Given the description of an element on the screen output the (x, y) to click on. 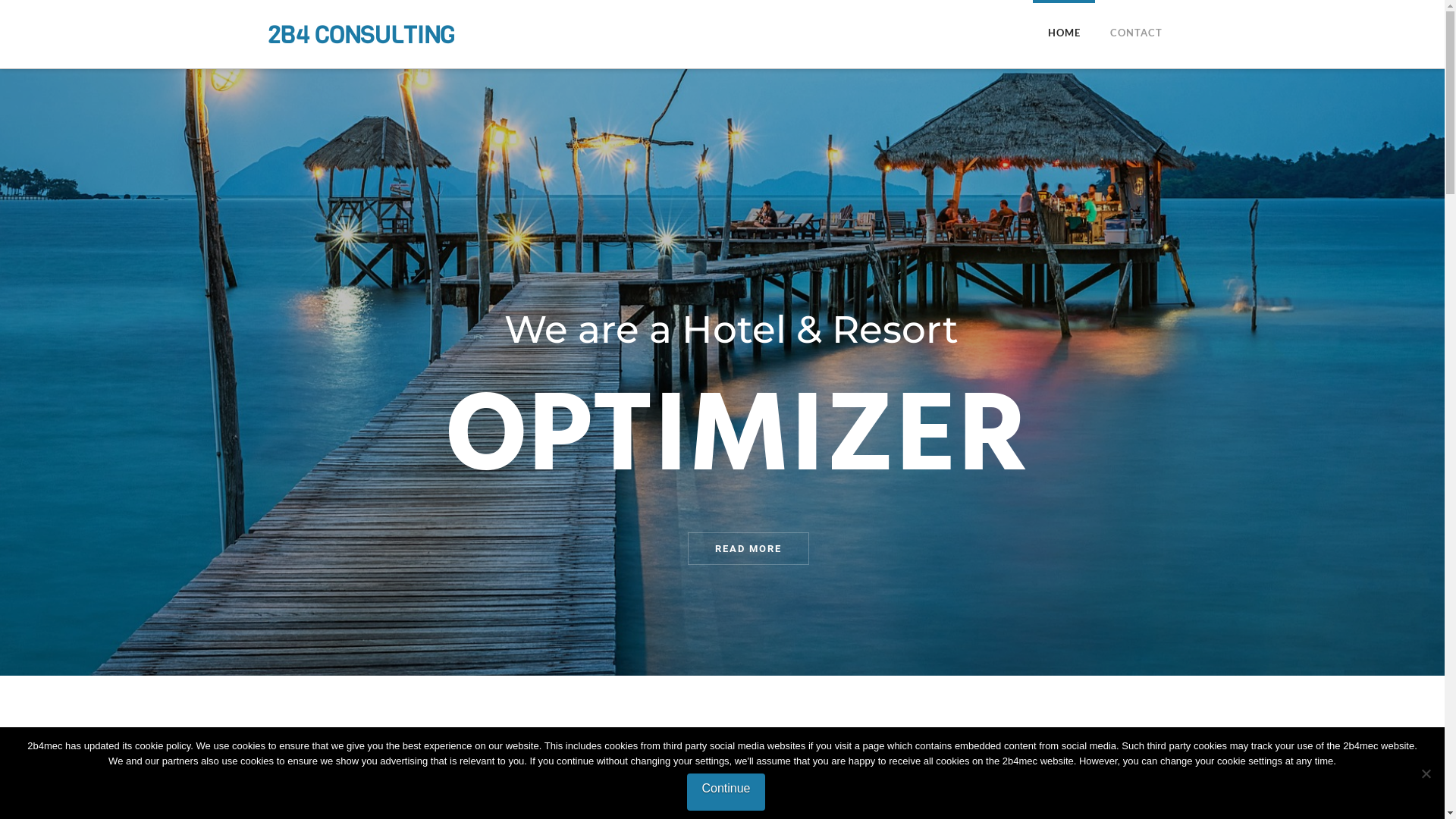
Continue Element type: text (725, 790)
2B4 CONSULTING Element type: text (360, 34)
HOME Element type: text (1063, 34)
CONTACT Element type: text (1136, 34)
No Element type: hover (1425, 773)
